Given the description of an element on the screen output the (x, y) to click on. 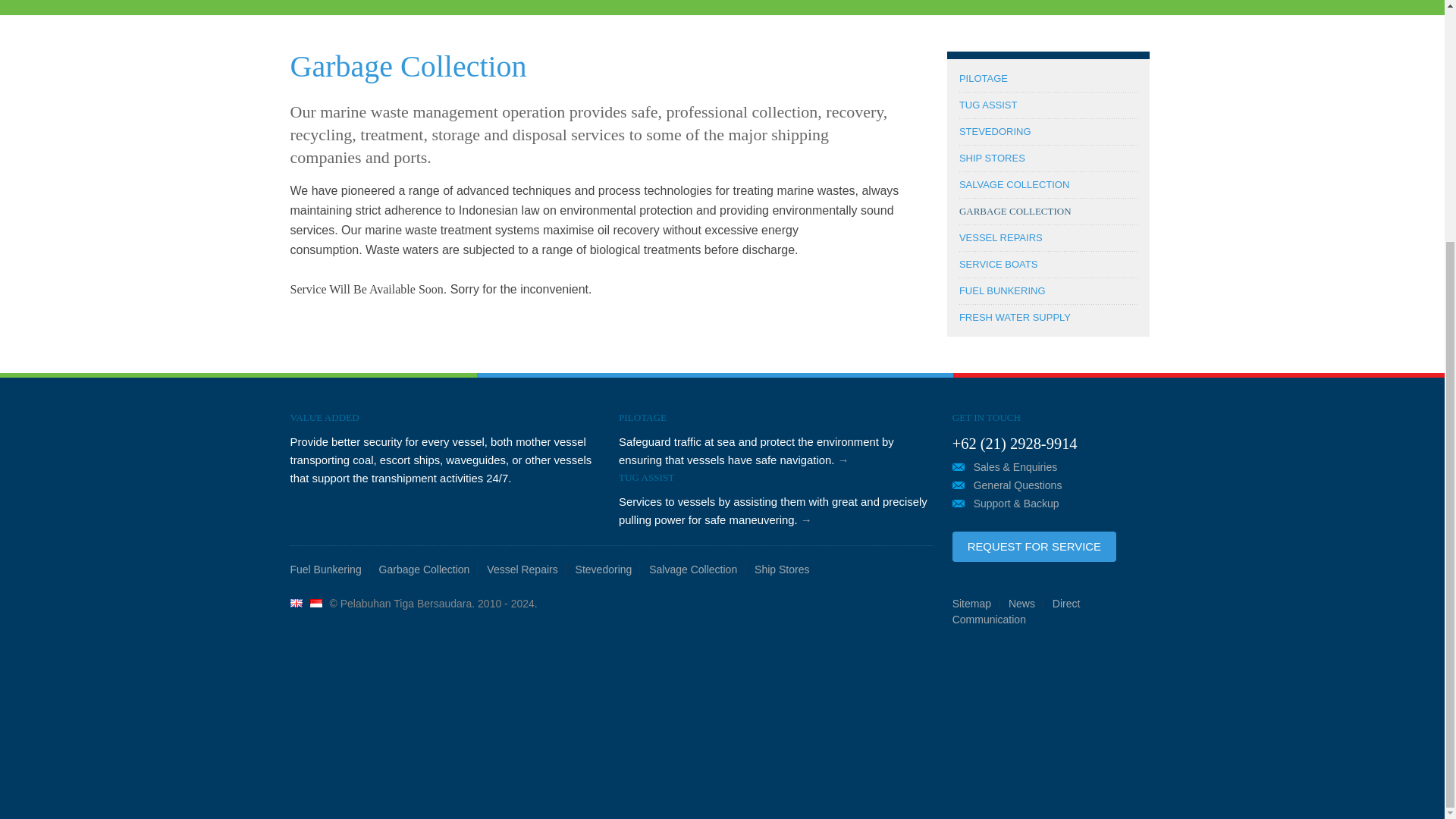
GARBAGE COLLECTION (1015, 211)
SERVICE BOATS (998, 264)
English (295, 603)
Indonesia (315, 603)
TUG ASSIST (988, 104)
PILOTAGE (983, 78)
FRESH WATER SUPPLY (1014, 317)
SHIP STORES (992, 157)
FUEL BUNKERING (1002, 290)
VESSEL REPAIRS (1000, 237)
SALVAGE COLLECTION (1013, 184)
STEVEDORING (994, 131)
